Given the description of an element on the screen output the (x, y) to click on. 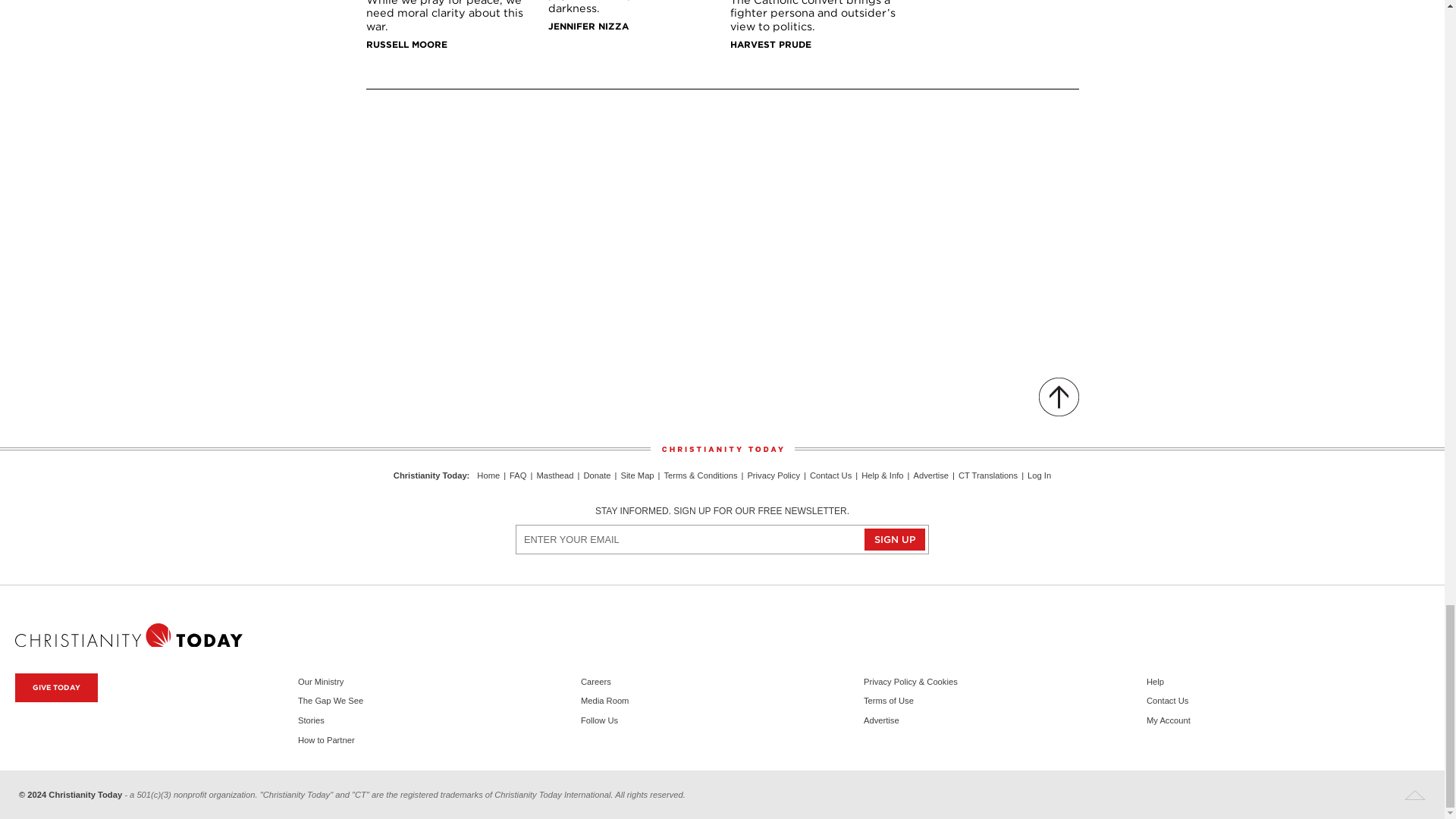
Sign Up (894, 539)
